Given the description of an element on the screen output the (x, y) to click on. 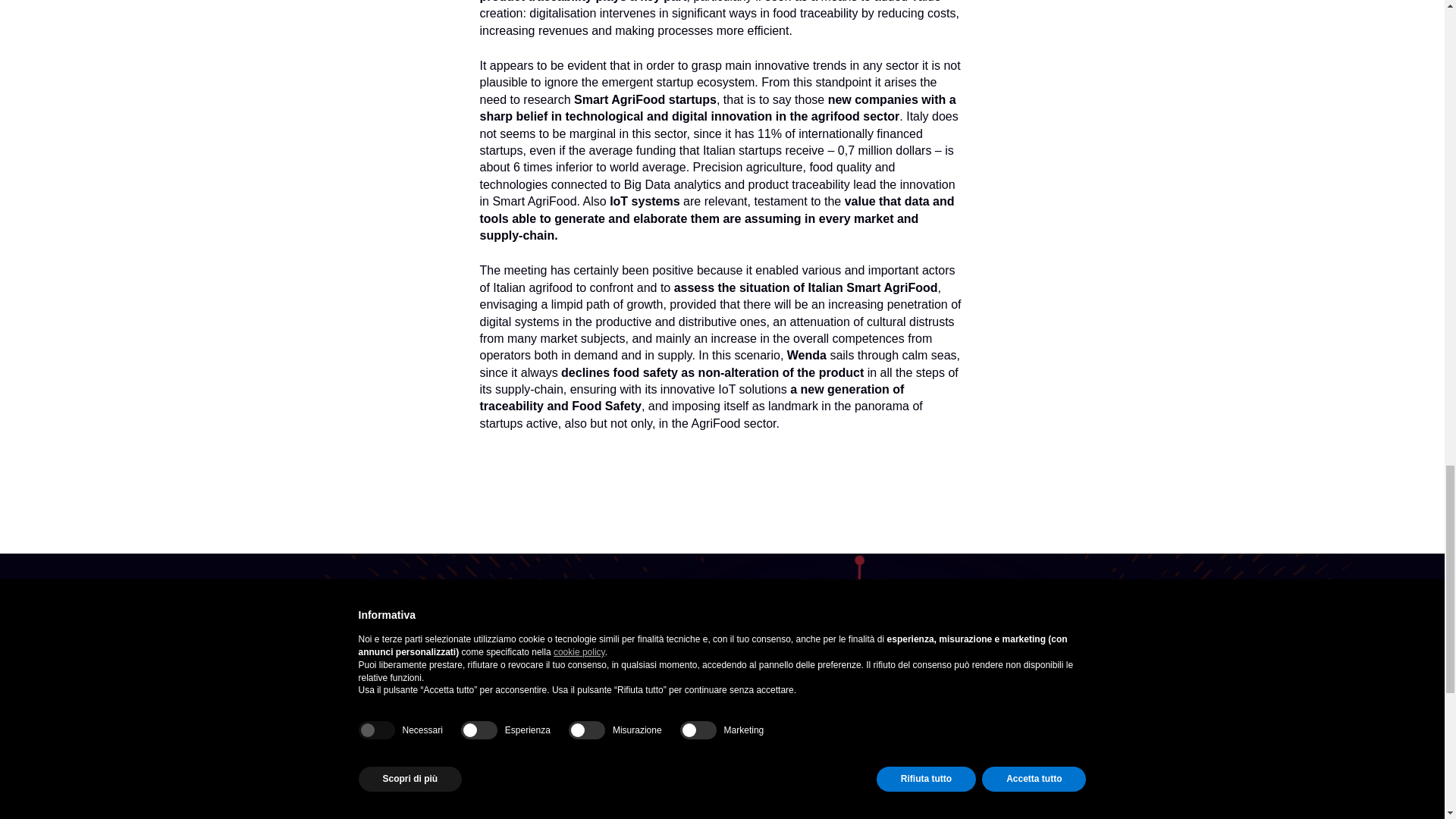
Contact us (345, 769)
